Given the description of an element on the screen output the (x, y) to click on. 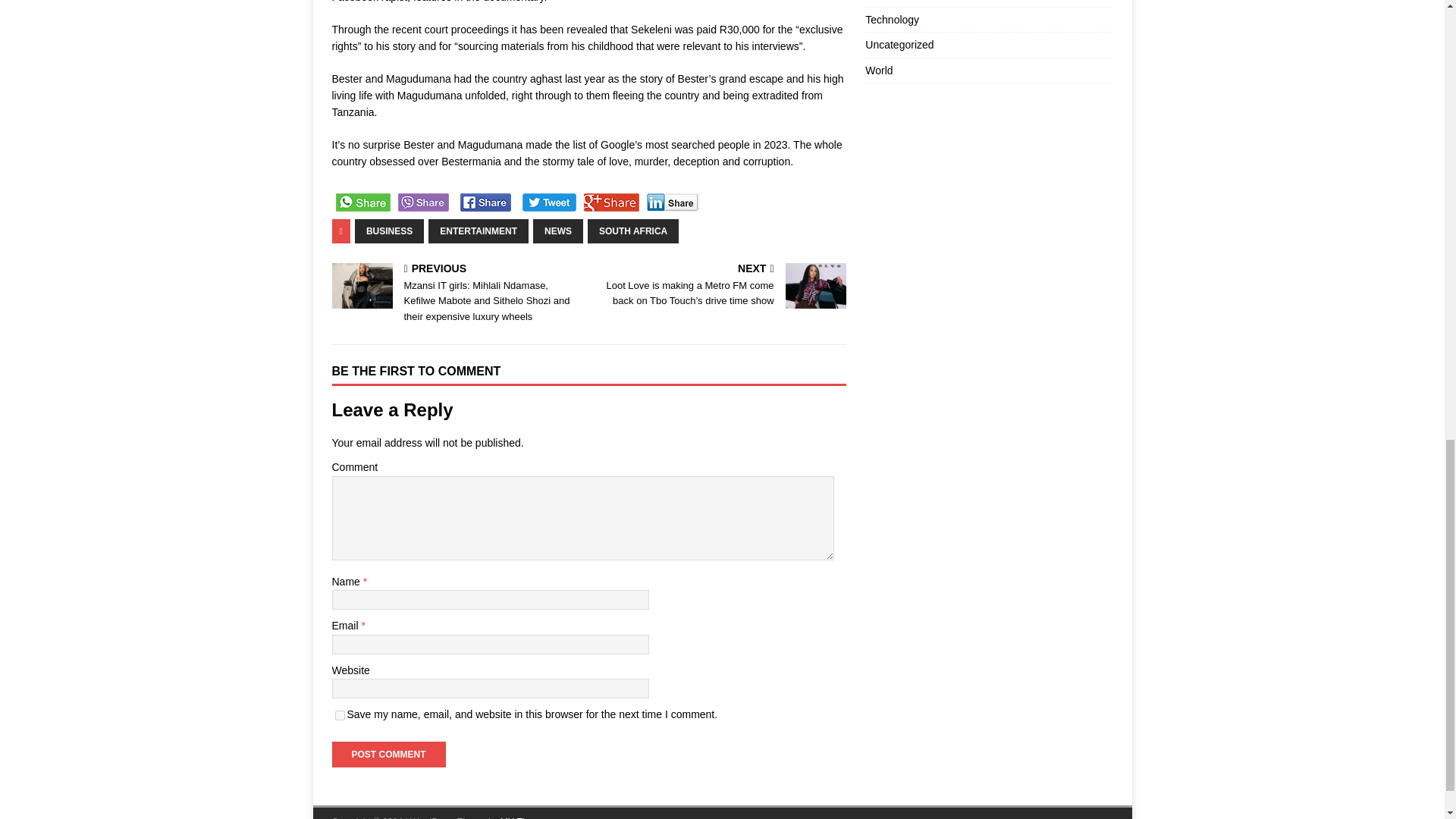
yes (339, 715)
Post Comment (388, 754)
